Given the description of an element on the screen output the (x, y) to click on. 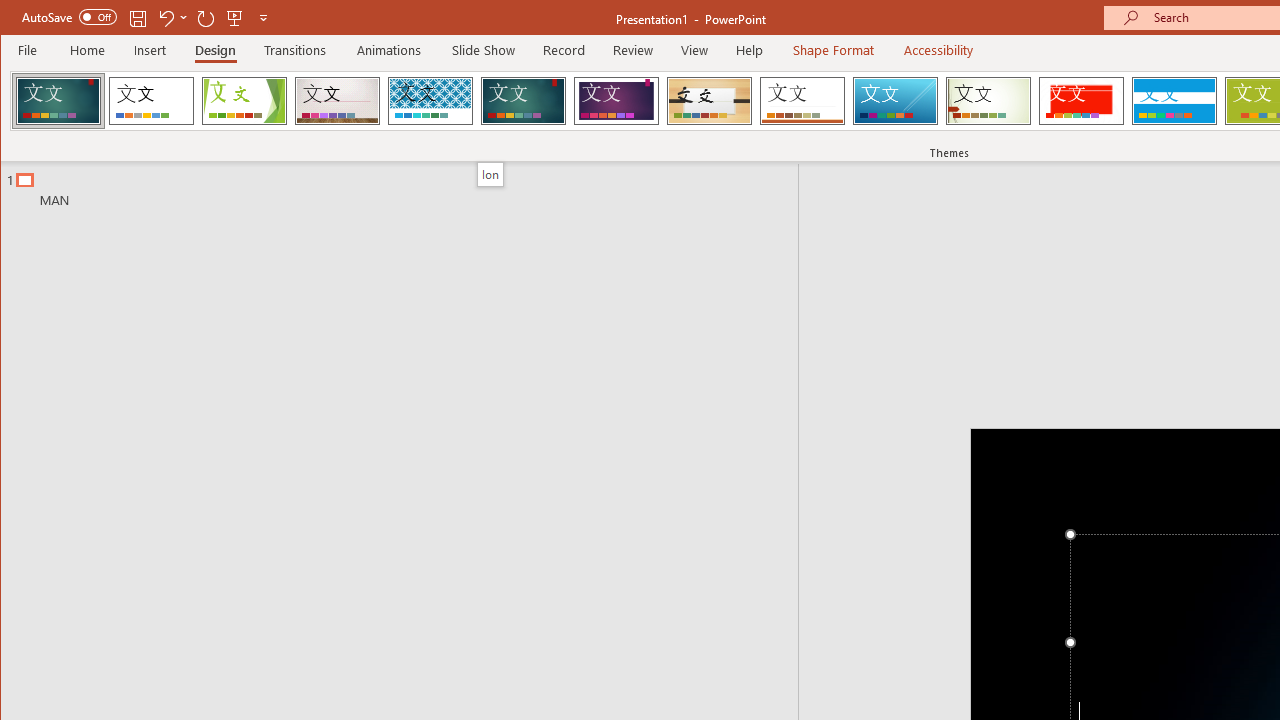
More Options (183, 17)
Redo (206, 17)
Facet (244, 100)
Ion (490, 174)
Review (632, 50)
Integral (430, 100)
Retrospect (802, 100)
Help (749, 50)
Slice (895, 100)
Atlas (1081, 100)
View (694, 50)
Save (138, 17)
Home (87, 50)
From Beginning (235, 17)
